Given the description of an element on the screen output the (x, y) to click on. 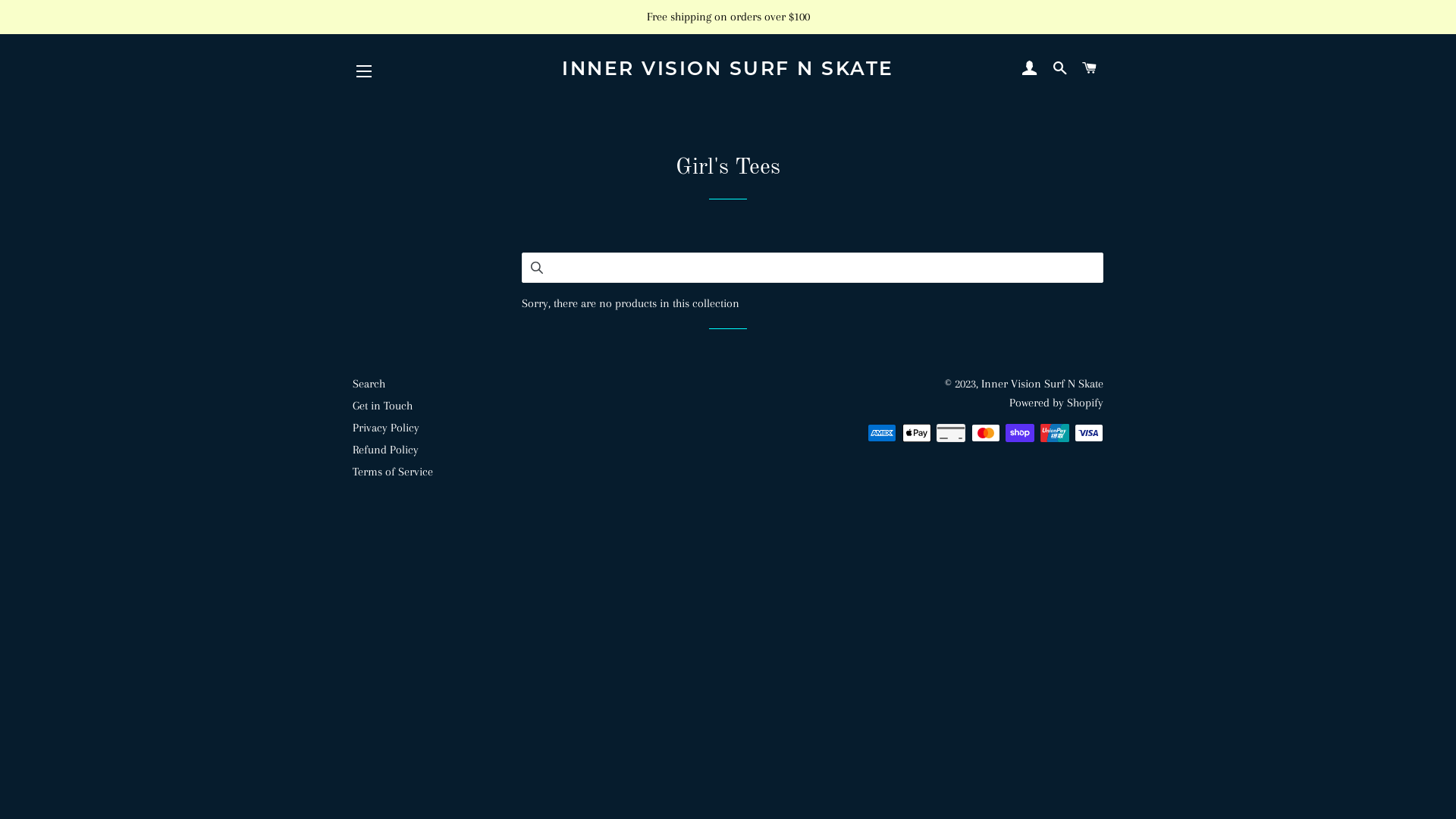
Inner Vision Surf N Skate Element type: text (1042, 383)
INNER VISION SURF N SKATE Element type: text (727, 68)
CART Element type: text (1089, 68)
Search Element type: text (368, 383)
Terms of Service Element type: text (392, 471)
LOG IN Element type: text (1029, 68)
SITE NAVIGATION Element type: text (363, 71)
Powered by Shopify Element type: text (1056, 402)
SEARCH Element type: text (1059, 68)
Get in Touch Element type: text (382, 405)
Privacy Policy Element type: text (385, 427)
Refund Policy Element type: text (385, 449)
